Given the description of an element on the screen output the (x, y) to click on. 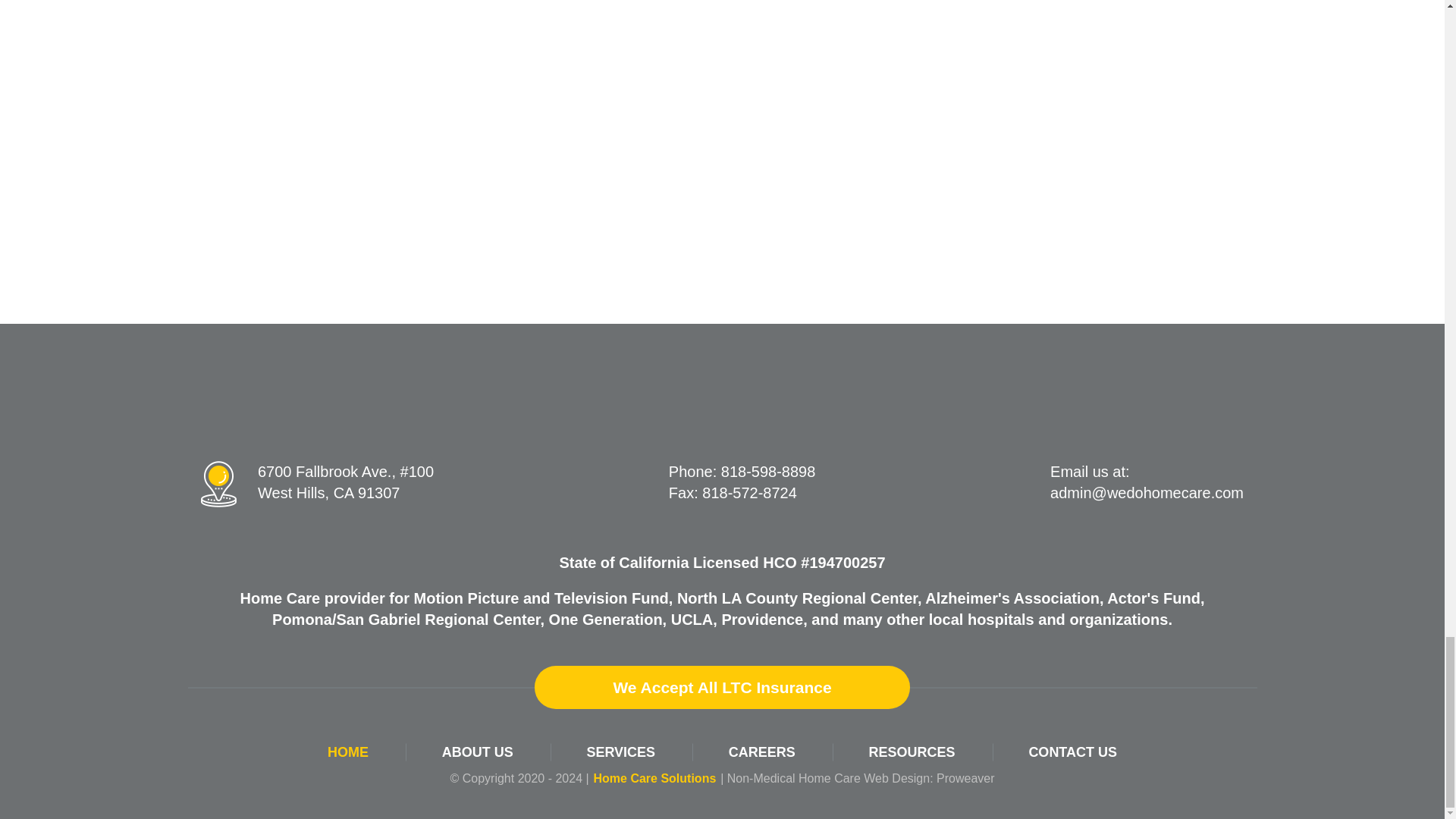
SERVICES (620, 752)
CONTACT US (1071, 752)
CAREERS (761, 752)
HOME (347, 752)
RESOURCES (912, 752)
ABOUT US (477, 752)
Non-Medical Home Care Web Design (828, 778)
